Given the description of an element on the screen output the (x, y) to click on. 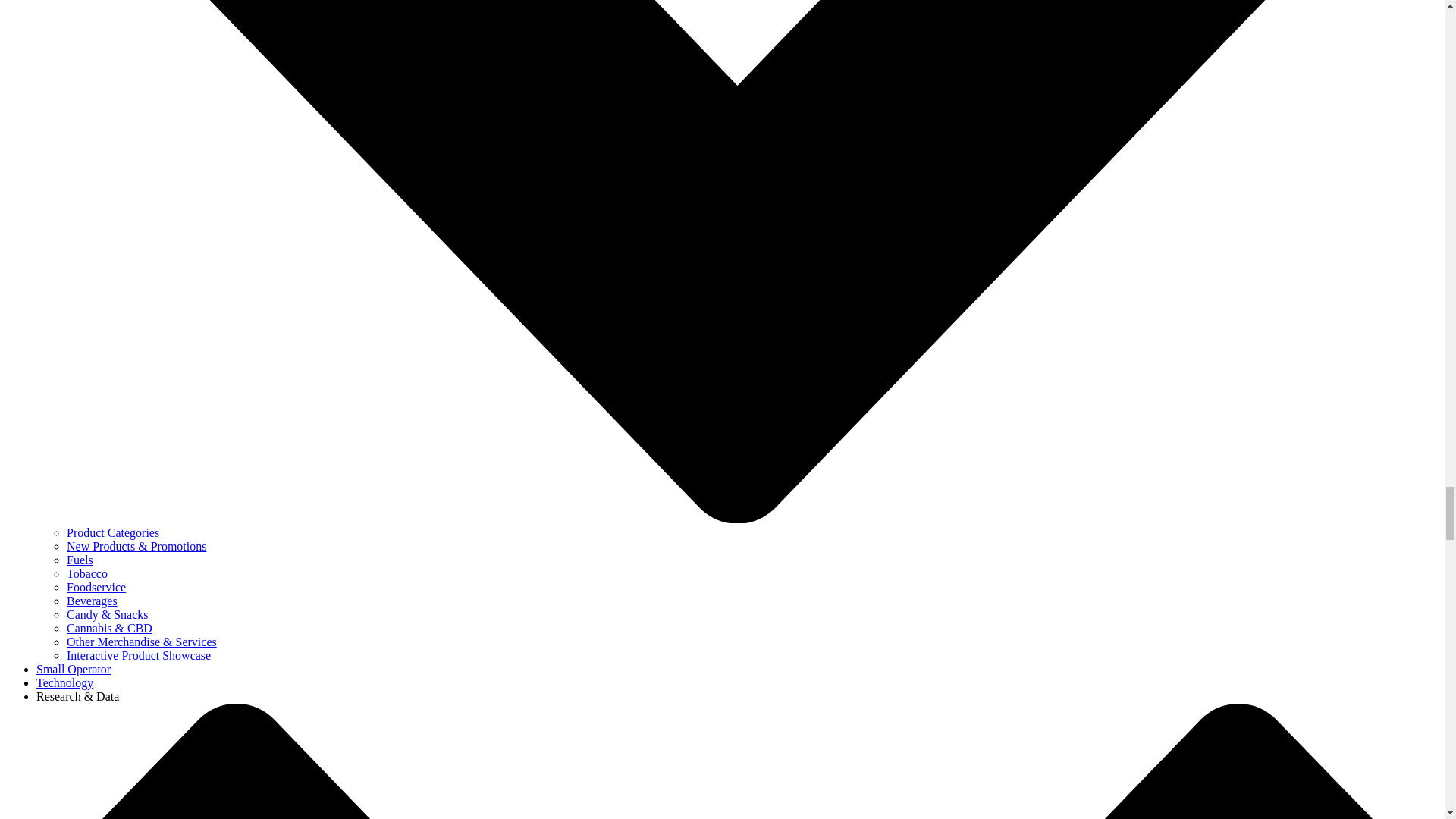
Tobacco (86, 573)
Product Categories (112, 532)
Technology (64, 682)
Interactive Product Showcase (138, 655)
Foodservice (95, 586)
Small Operator (73, 668)
Fuels (79, 559)
Beverages (91, 600)
